Given the description of an element on the screen output the (x, y) to click on. 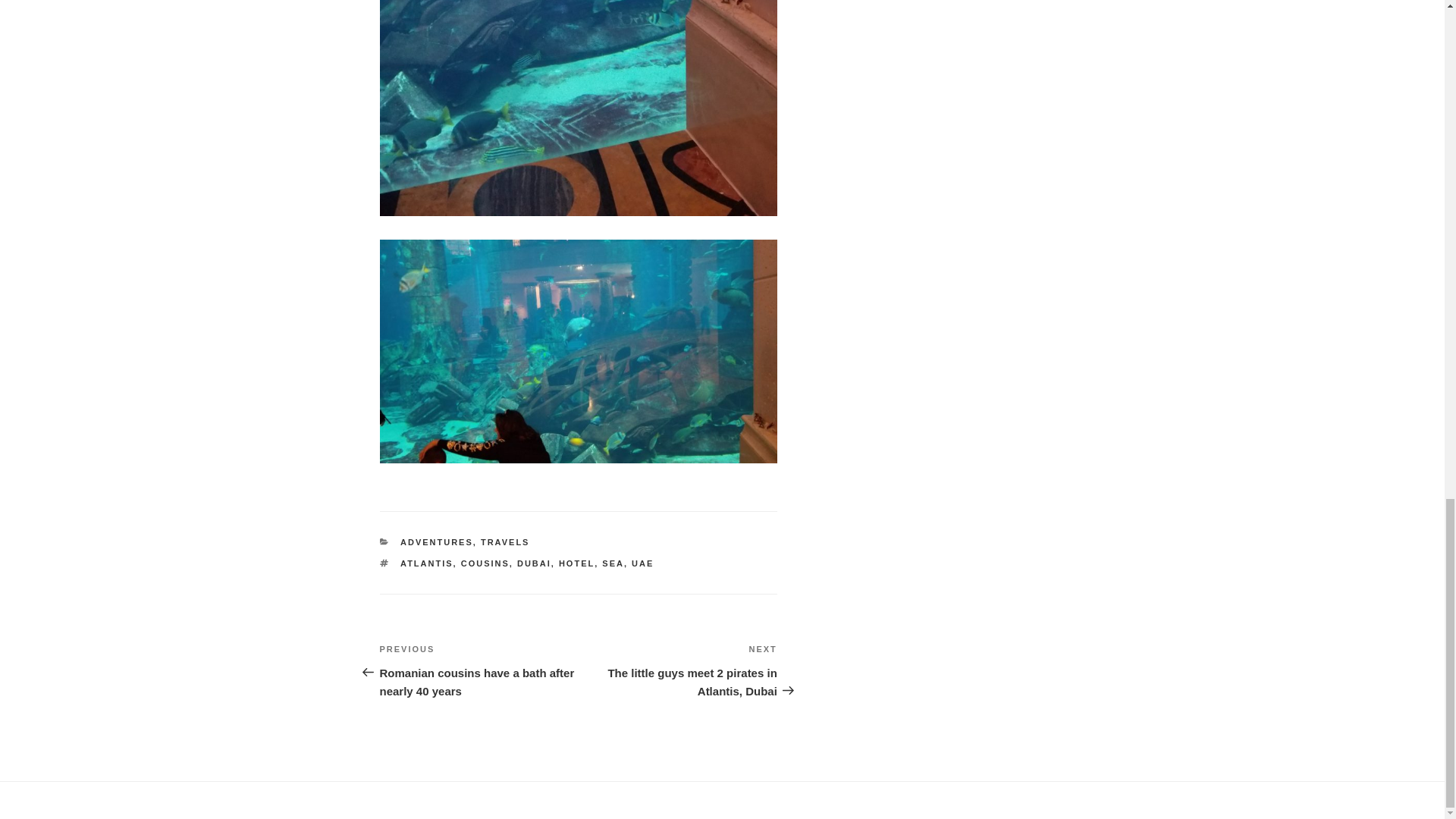
COUSINS (485, 563)
ATLANTIS (426, 563)
SEA (613, 563)
ADVENTURES (436, 542)
HOTEL (576, 563)
DUBAI (533, 563)
TRAVELS (504, 542)
UAE (642, 563)
